Given the description of an element on the screen output the (x, y) to click on. 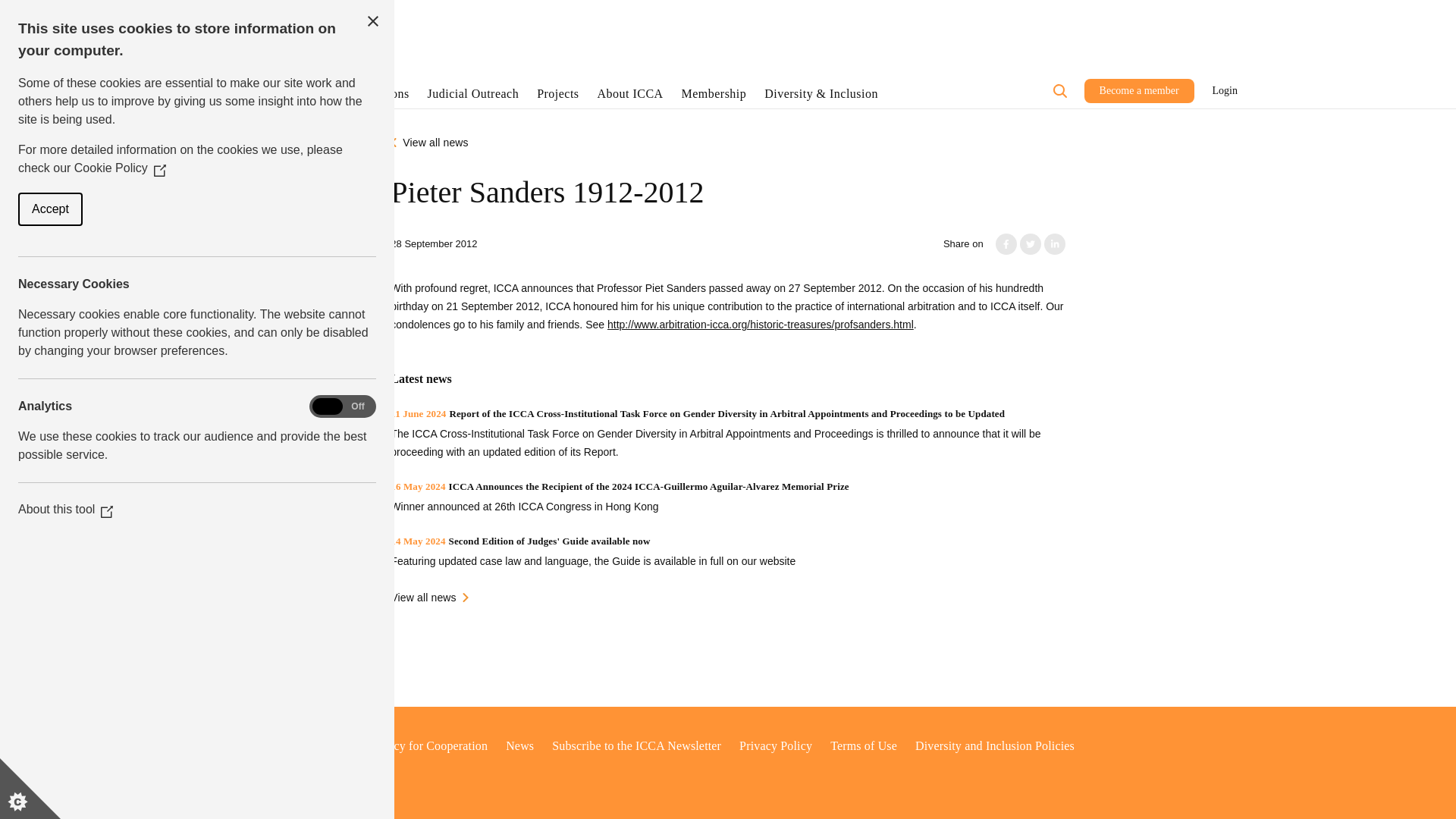
Projects (557, 96)
Publications (377, 96)
ICCA (242, 10)
Twitter (1030, 243)
About ICCA (629, 96)
Login (1224, 90)
View all news (428, 142)
Young ICCA (308, 10)
Home (233, 96)
Judicial Outreach (473, 96)
Linkedin (1054, 243)
Facebook (1005, 243)
Home (283, 54)
Become a member (1138, 90)
